Given the description of an element on the screen output the (x, y) to click on. 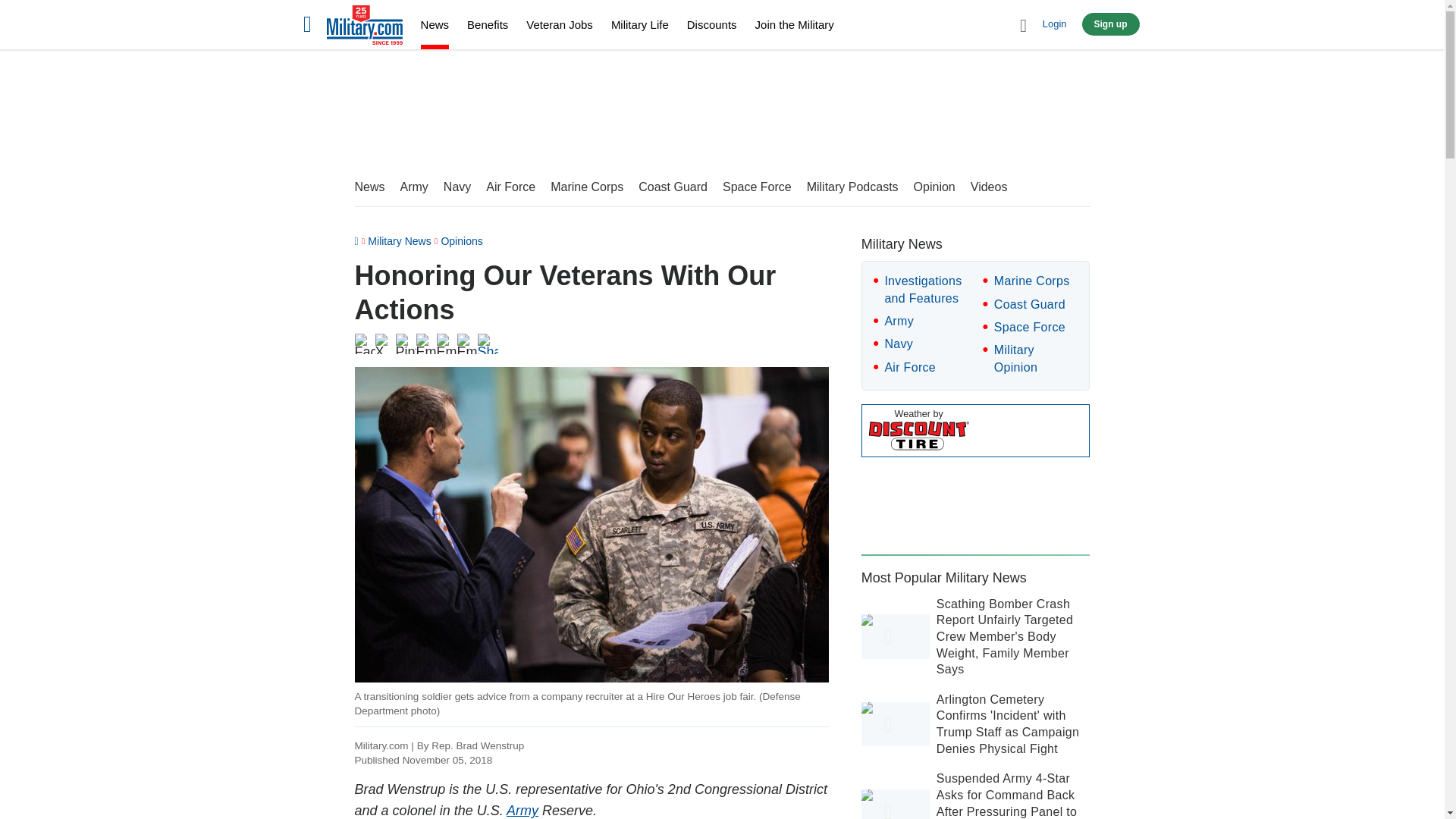
Home (364, 27)
Benefits (487, 24)
Military Life (639, 24)
Veteran Jobs (558, 24)
